Given the description of an element on the screen output the (x, y) to click on. 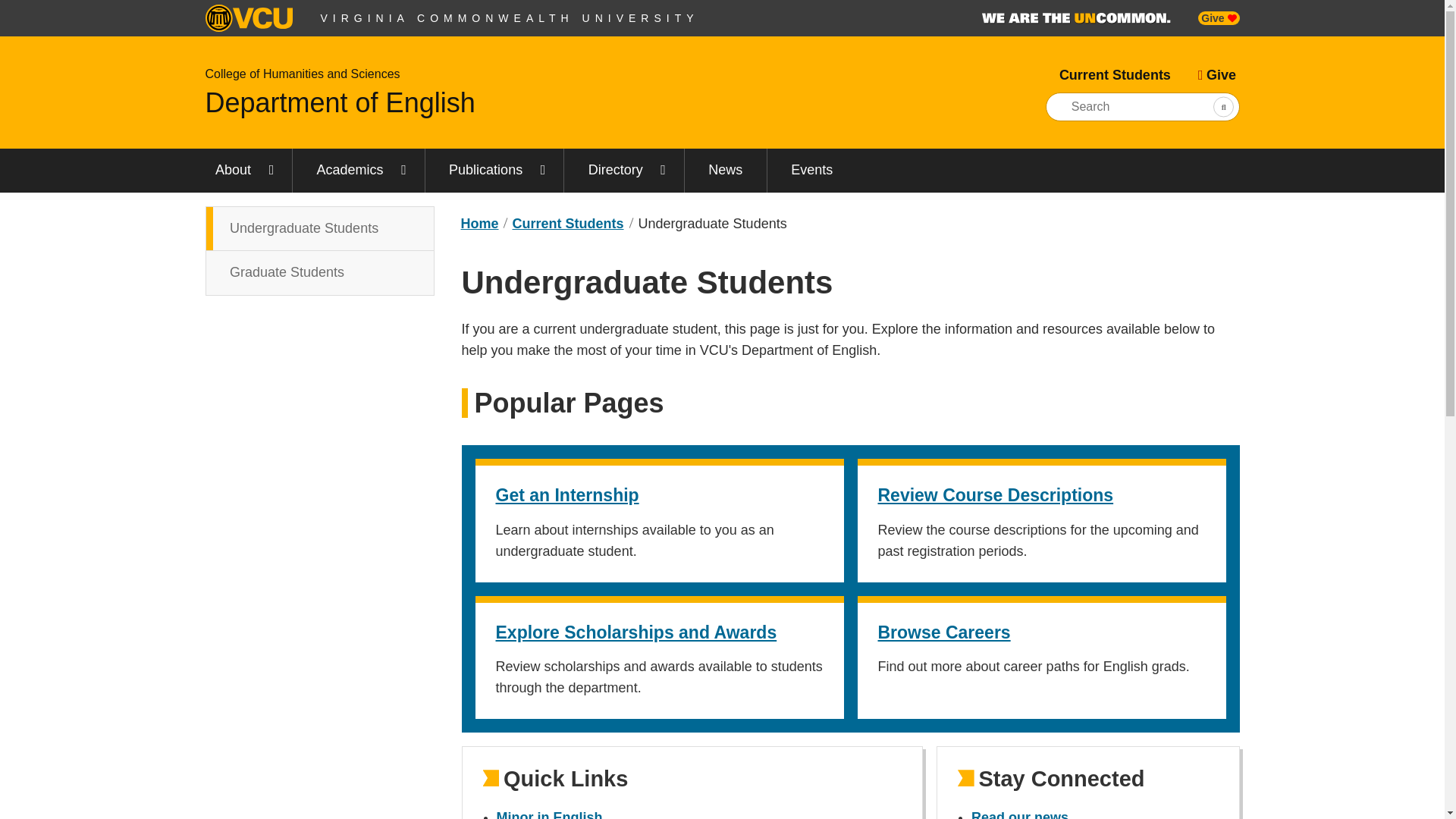
Give (1216, 74)
Academics (358, 170)
Current Students (1114, 74)
About (319, 250)
English (241, 170)
College of Humanities and Sciences (479, 223)
Department of English (301, 73)
We are the UNCOMMON. (339, 101)
VIRGINIA COMMONWEALTH UNIVERSITY (1075, 17)
